Given the description of an element on the screen output the (x, y) to click on. 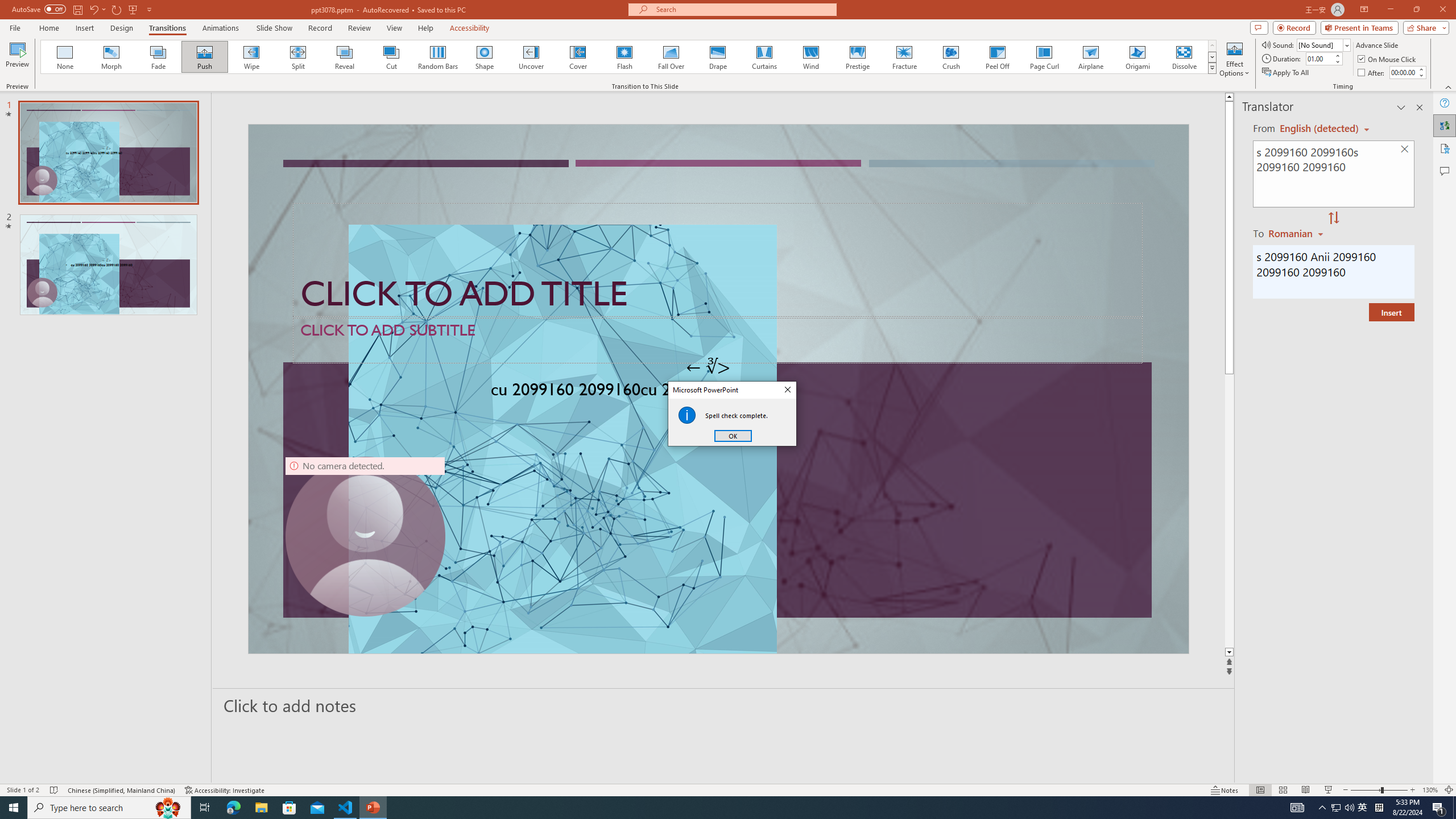
Page Curl (1043, 56)
Cover (577, 56)
Romanian (1296, 232)
Microsoft Edge (233, 807)
Fade (158, 56)
Wipe (251, 56)
